Given the description of an element on the screen output the (x, y) to click on. 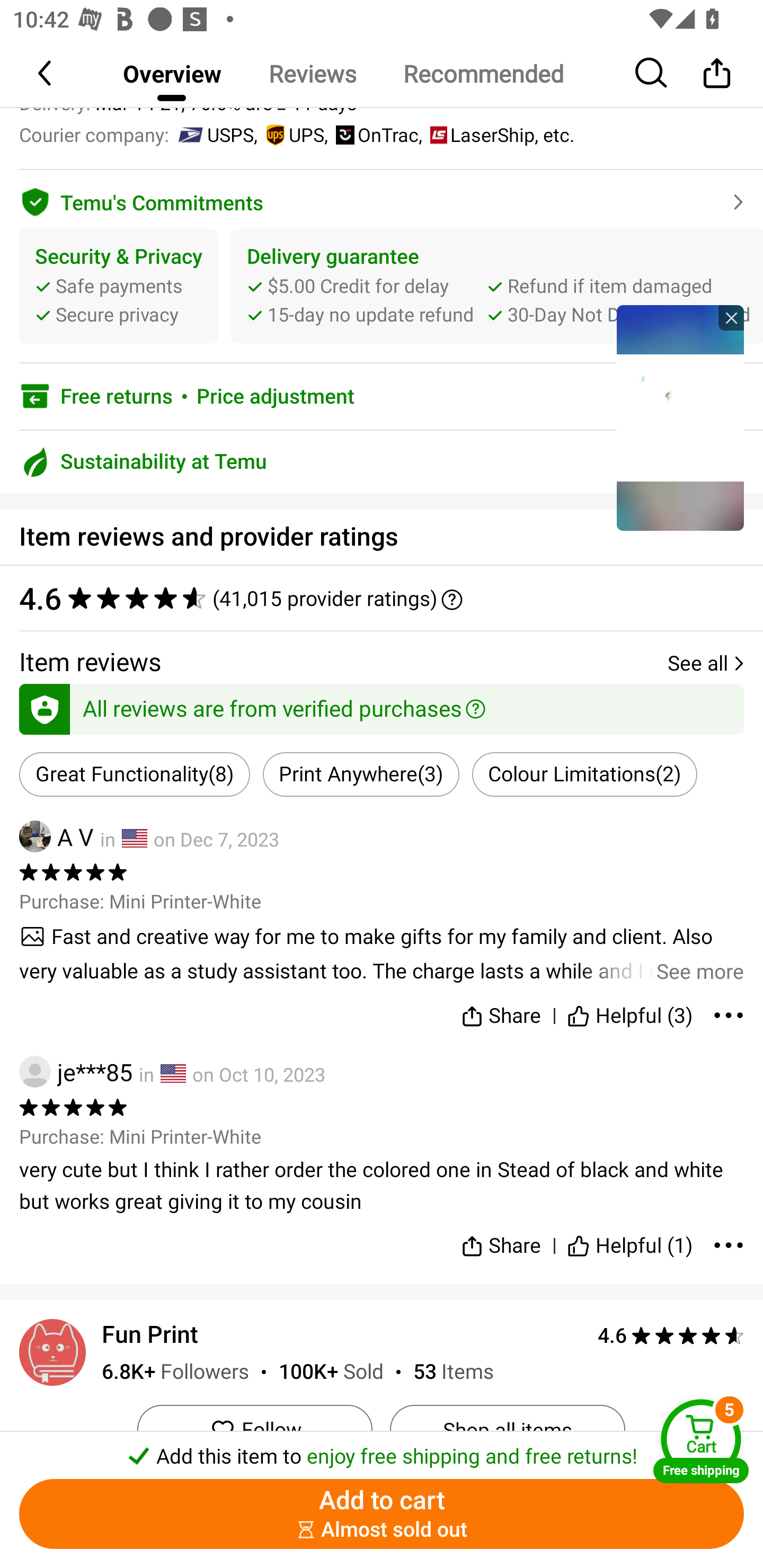
Overview (171, 72)
Reviews (311, 72)
Recommended (482, 72)
Back (46, 72)
Share (716, 72)
Temu's Commitments (381, 198)
Security & Privacy Safe payments Secure privacy (118, 285)
tronplayer_view (680, 417)
Free returns￼Price adjustment (381, 396)
Sustainability at Temu 5M+ trees (381, 462)
4.6 ‪(41,015 provider ratings) (381, 598)
All reviews are from verified purchases  (381, 706)
Great Functionality(8) (134, 774)
Print Anywhere(3) (360, 774)
Colour Limitations(2) (584, 774)
A V (56, 836)
See more (381, 953)
  Share (500, 1011)
  Helpful (3) (629, 1011)
je***85 (75, 1071)
  Share (500, 1237)
  Helpful (1) (629, 1237)
Cart Free shipping Cart (701, 1440)
Add to cart ￼￼Almost sold out (381, 1513)
